Given the description of an element on the screen output the (x, y) to click on. 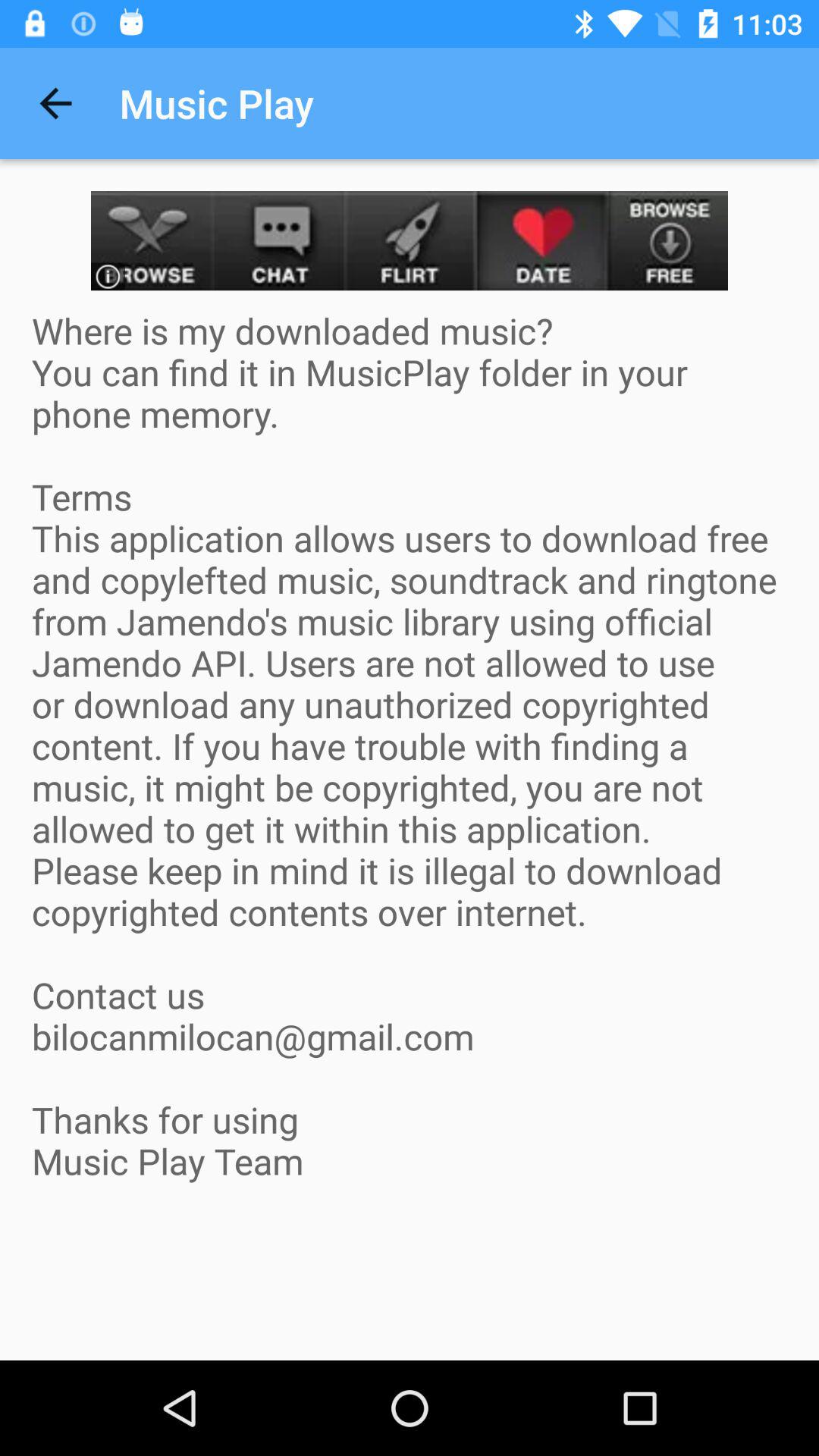
visit advertisement (409, 240)
